Given the description of an element on the screen output the (x, y) to click on. 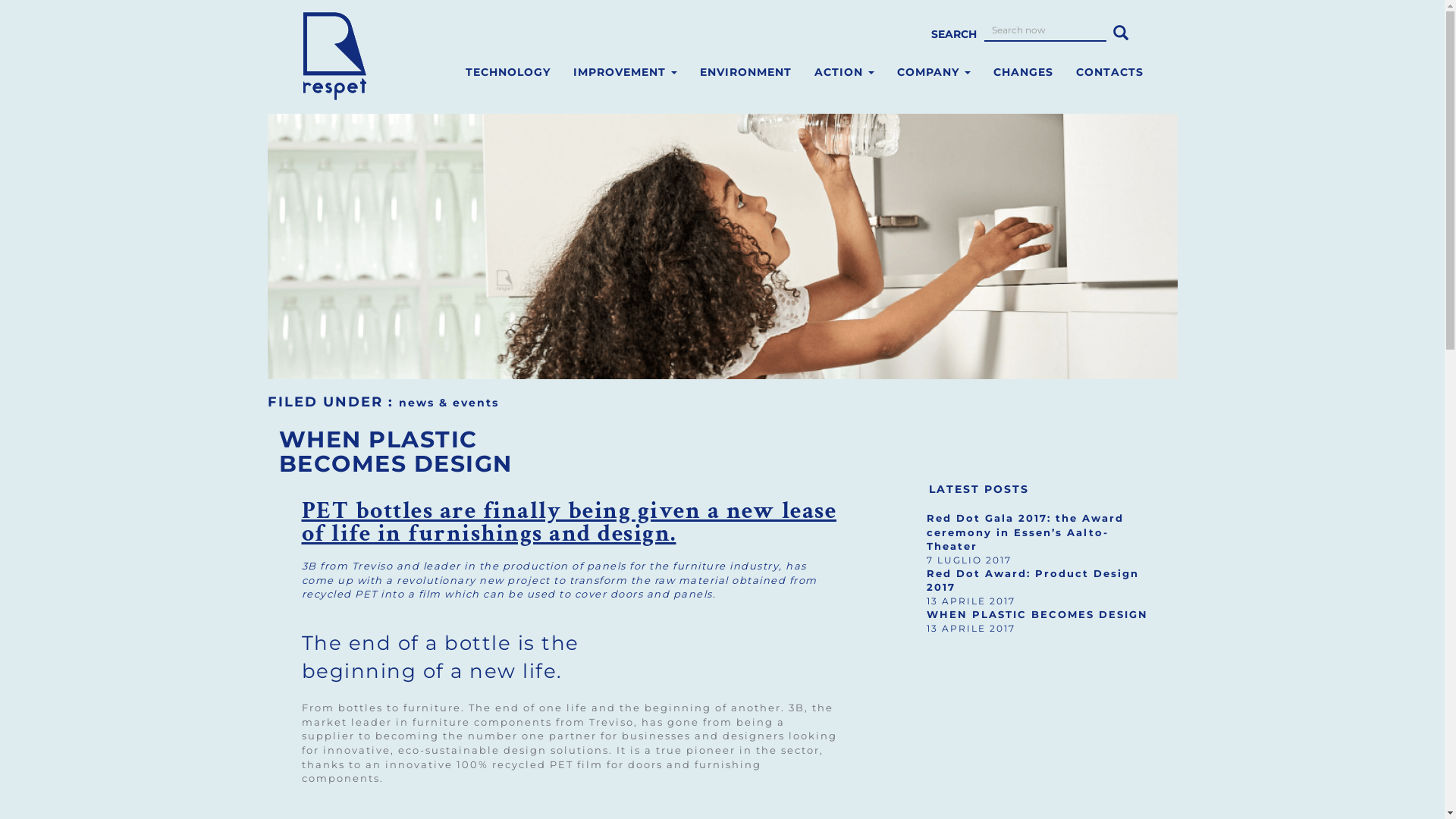
WHEN PLASTIC BECOMES DESIGN Element type: text (1037, 614)
TECHNOLOGY Element type: text (507, 72)
Ricerca Element type: text (1120, 29)
CHANGES Element type: text (1022, 72)
COMPANY Element type: text (933, 72)
IMPROVEMENT Element type: text (624, 72)
ACTION Element type: text (843, 72)
ENVIRONMENT Element type: text (745, 72)
Red Dot Award: Product Design 2017 Element type: text (1032, 580)
CONTACTS Element type: text (1109, 72)
